Given the description of an element on the screen output the (x, y) to click on. 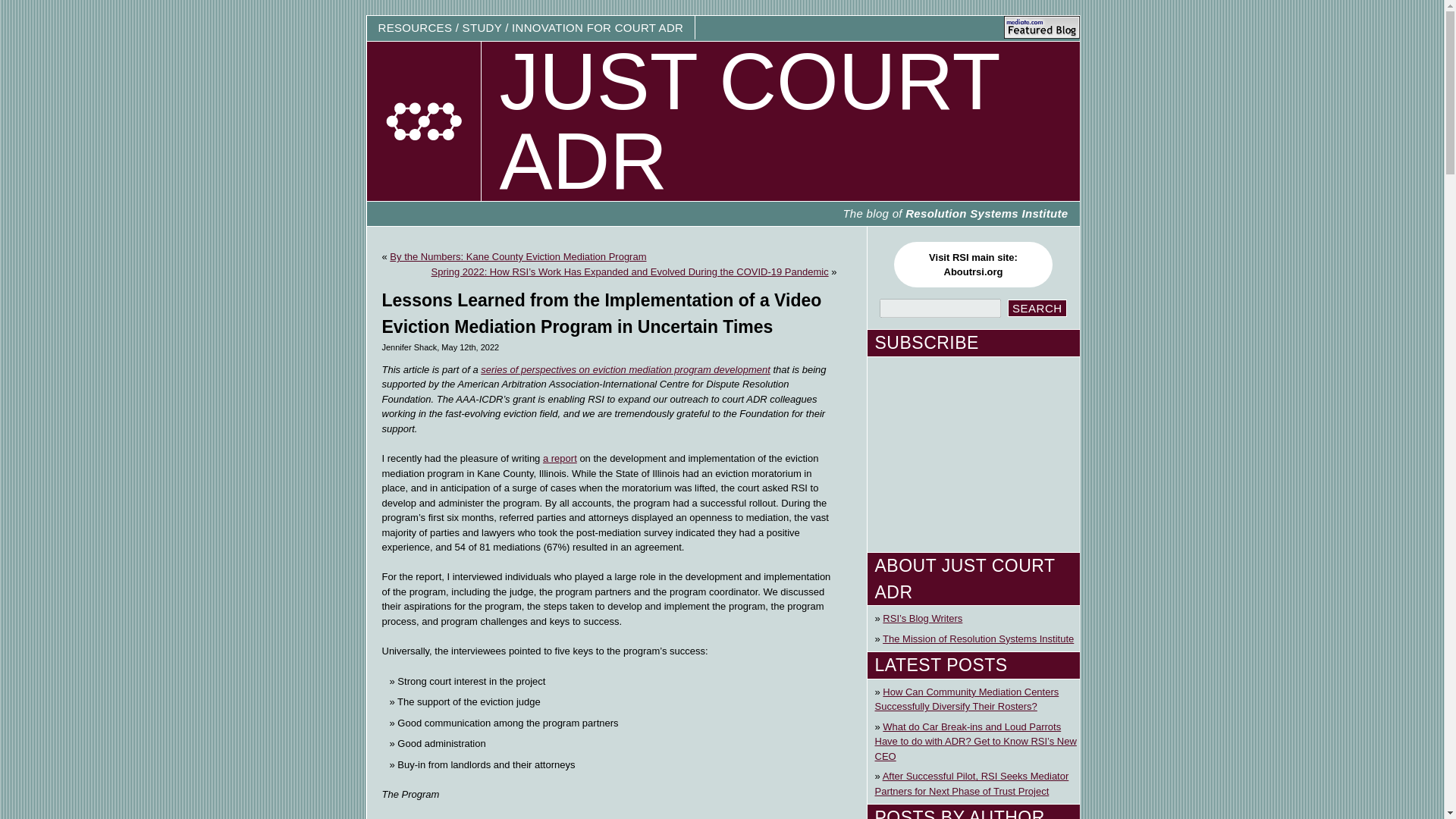
The Mission of Resolution Systems Institute (978, 638)
a report (972, 264)
Search (559, 458)
By the Numbers: Kane County Eviction Mediation Program (1037, 307)
Search (518, 256)
